Given the description of an element on the screen output the (x, y) to click on. 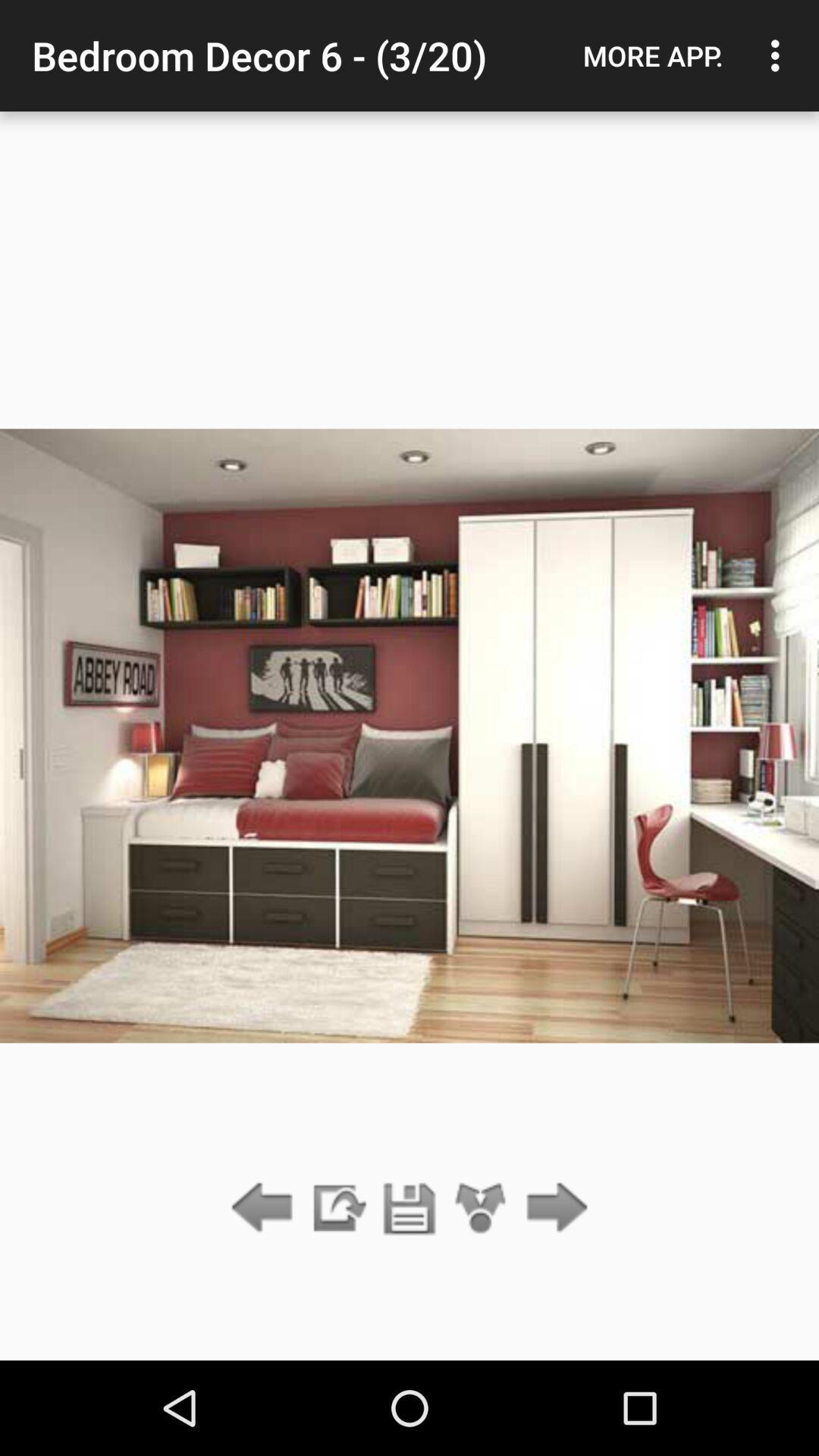
press the icon below bedroom decor 6 item (480, 1208)
